Given the description of an element on the screen output the (x, y) to click on. 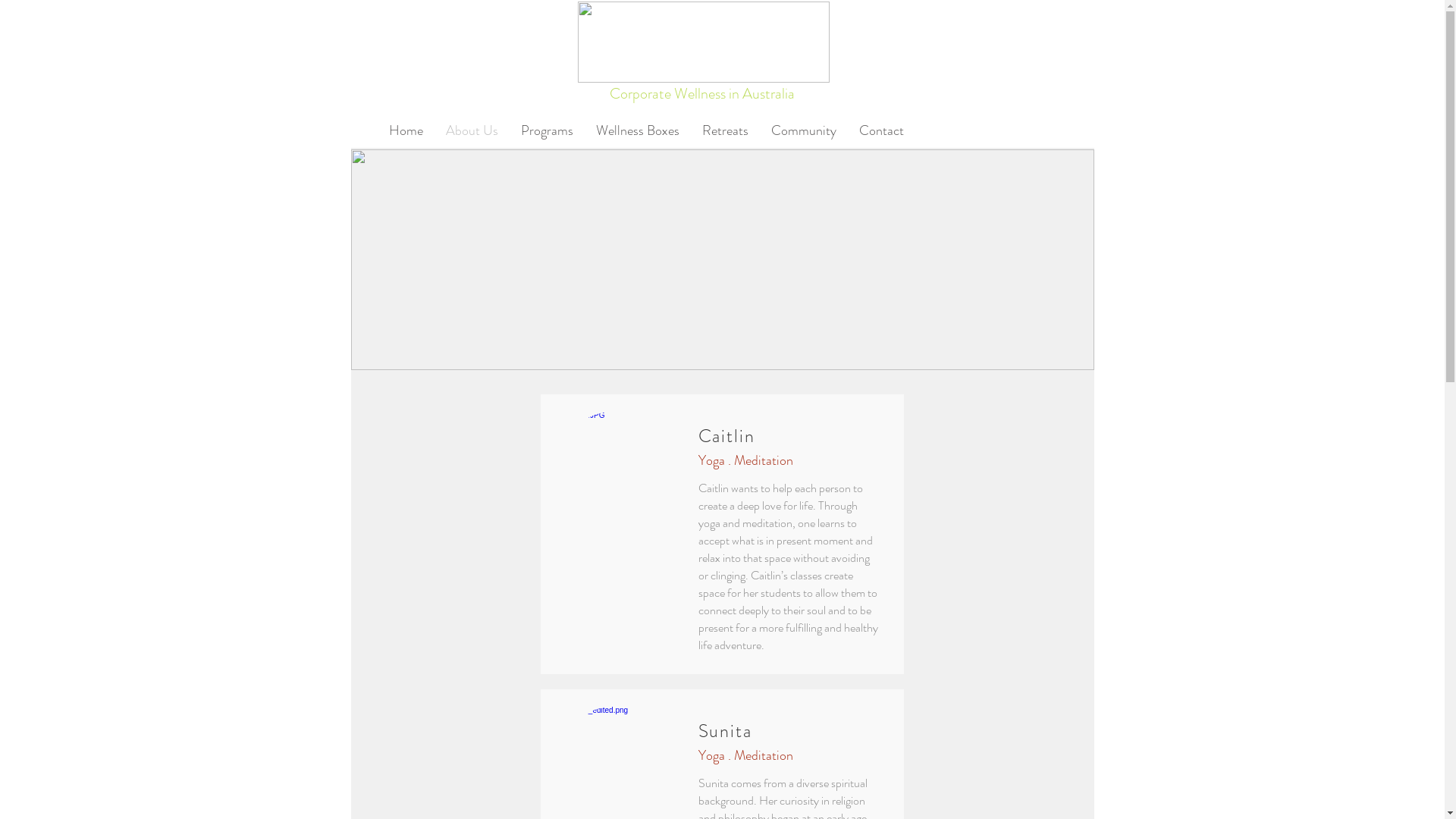
Wellness Boxes Element type: text (636, 130)
Contact Element type: text (881, 130)
Community Element type: text (803, 130)
Home Element type: text (405, 130)
Programs Element type: text (546, 130)
About Us Element type: text (470, 130)
Retreats Element type: text (724, 130)
